Given the description of an element on the screen output the (x, y) to click on. 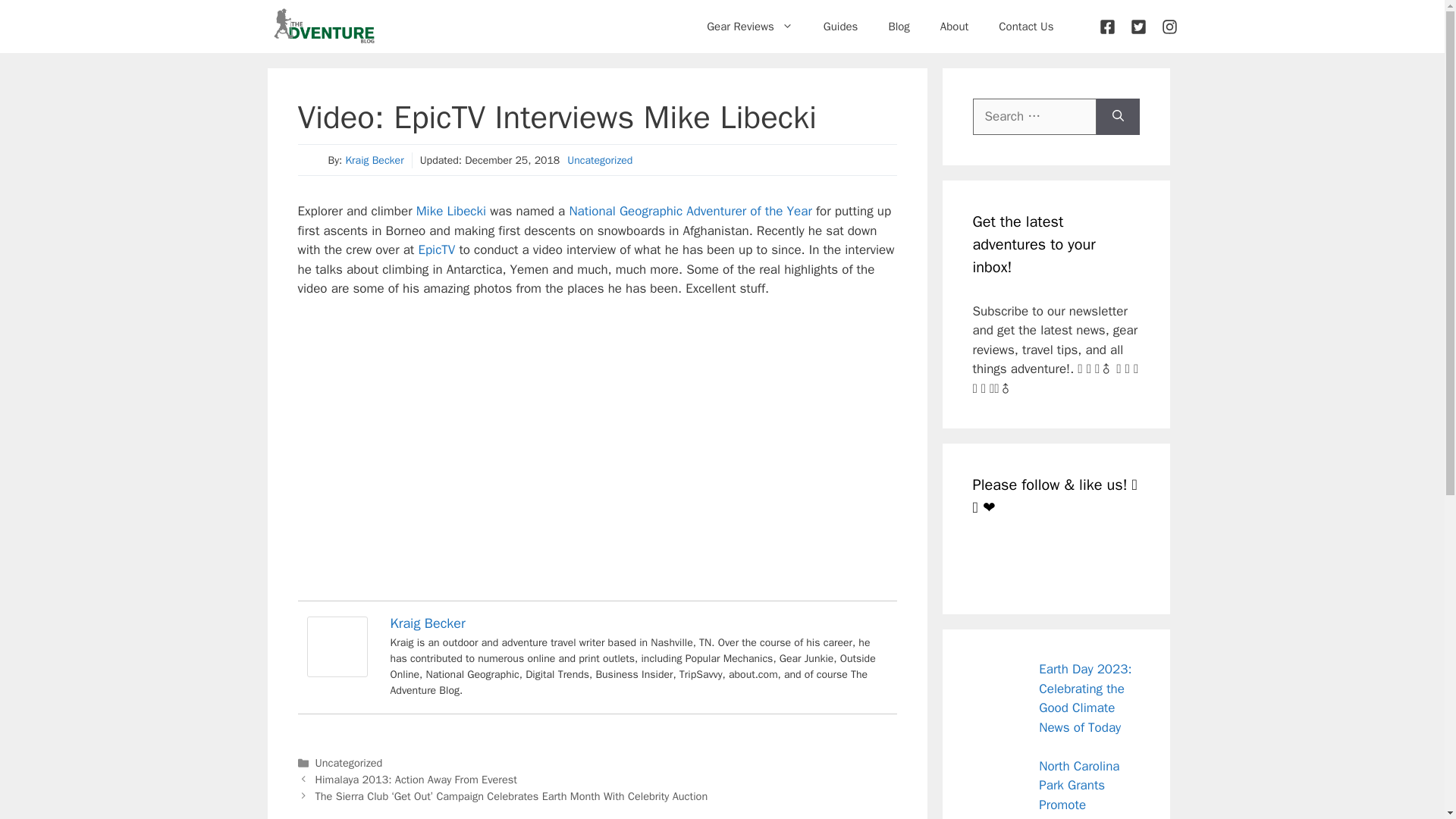
Blog (898, 26)
Gear Reviews (749, 26)
North Carolina Park Grants Promote Accessibility Outdoors (1045, 788)
Uncategorized (599, 160)
Himalaya 2013: Action Away From Everest (415, 779)
Twitter (1025, 560)
National Geographic Adventurer of the Year (689, 211)
The Adventure Blog (323, 26)
Earth Day 2023: Celebrating the Good Climate News of Today (1085, 697)
Facebook (990, 560)
